Given the description of an element on the screen output the (x, y) to click on. 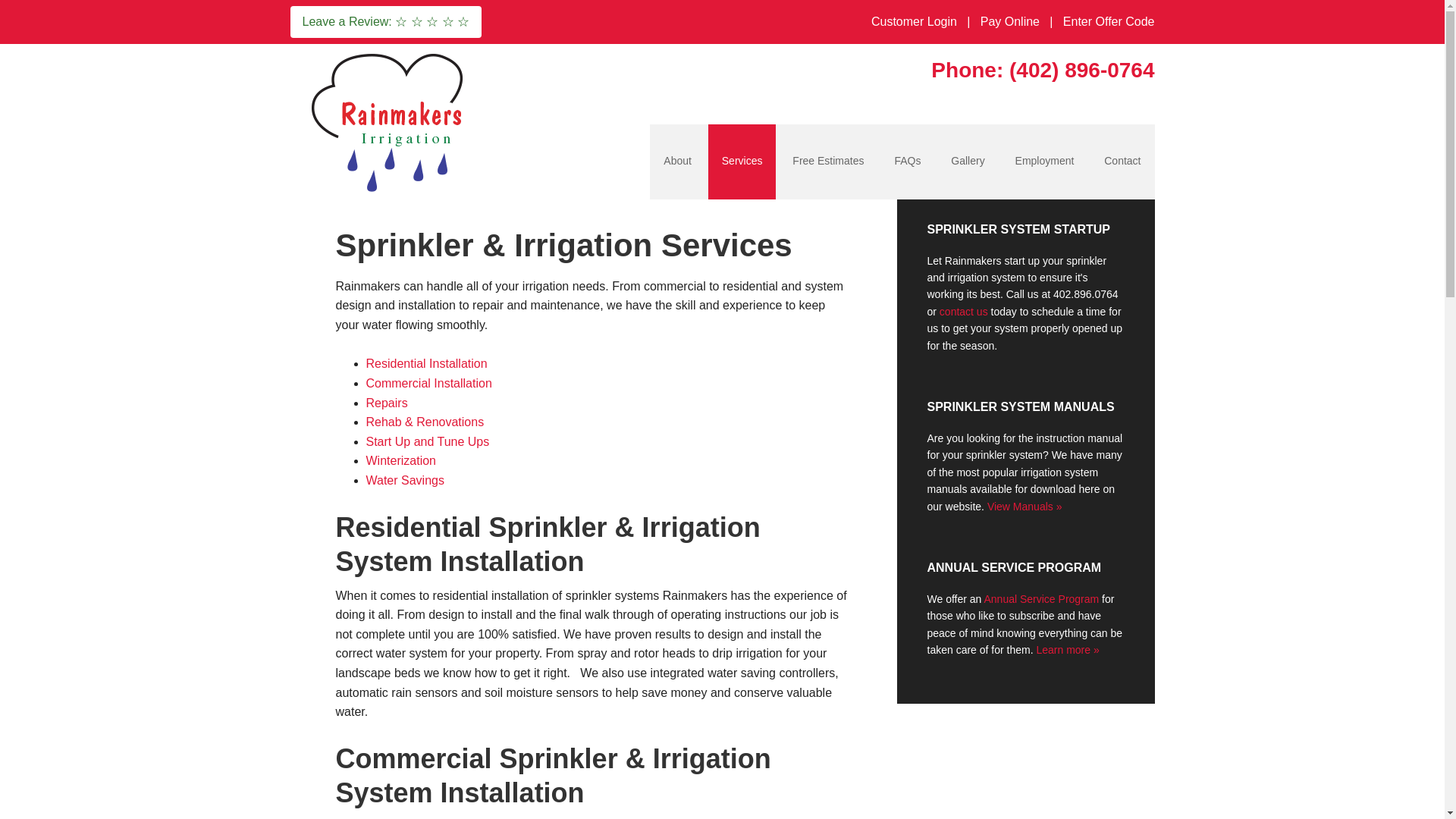
Services (741, 161)
Residential Installation (425, 363)
Winterization (400, 460)
Commercial Installation (428, 382)
Repairs (386, 402)
Start Up and Tune Ups (427, 440)
Rainmakers of Omaha (387, 121)
Pay Online (1009, 21)
Enter Offer Code (1108, 21)
Water Savings (404, 480)
Rainmakers on Facebook (504, 20)
Request a Free Estimate (827, 161)
Annual Service Program (1041, 598)
Employment (1044, 161)
contact us (963, 311)
